Given the description of an element on the screen output the (x, y) to click on. 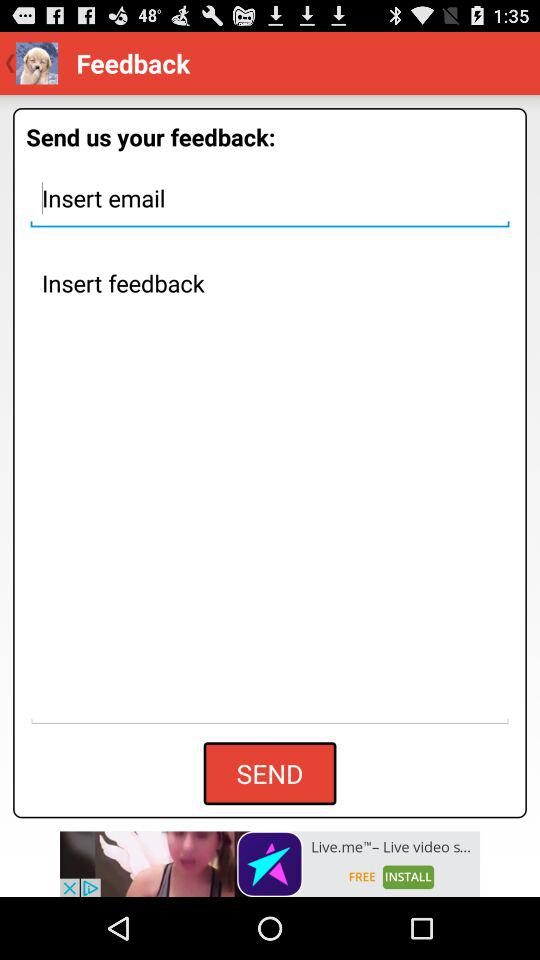
advertisement section (270, 864)
